Given the description of an element on the screen output the (x, y) to click on. 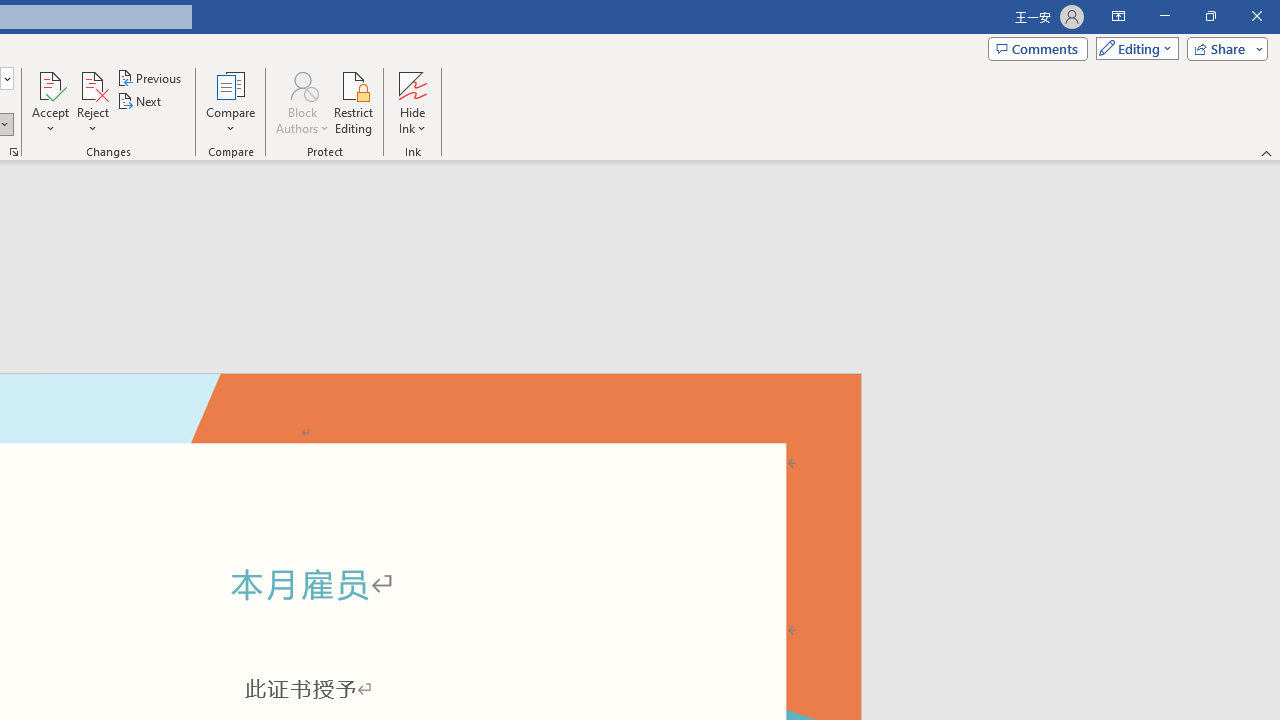
Accept and Move to Next (50, 84)
Hide Ink (412, 102)
Hide Ink (412, 84)
Previous (150, 78)
Reject (92, 102)
Change Tracking Options... (13, 151)
Block Authors (302, 84)
